Given the description of an element on the screen output the (x, y) to click on. 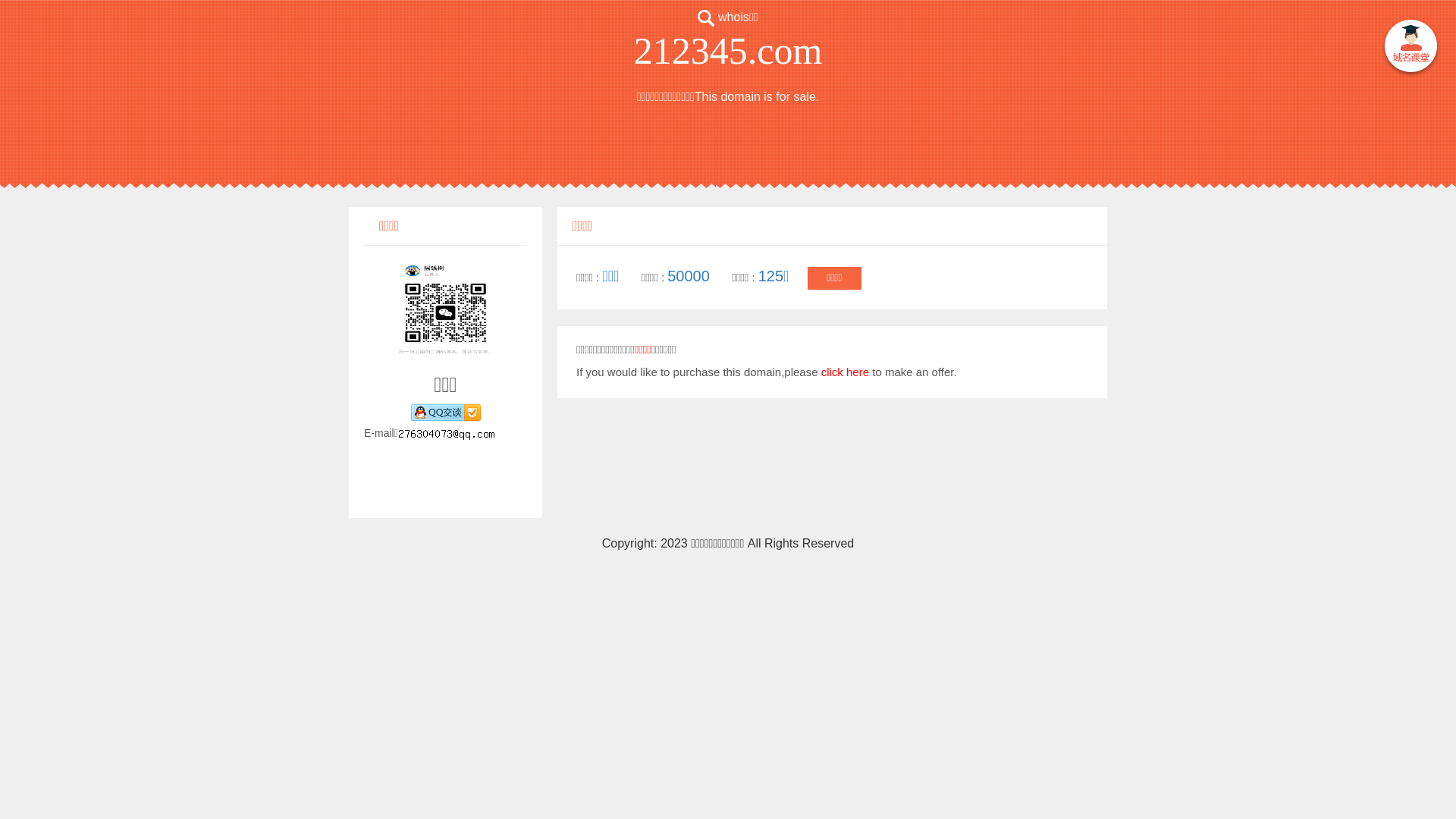
click here Element type: text (845, 371)
  Element type: text (1410, 48)
